Given the description of an element on the screen output the (x, y) to click on. 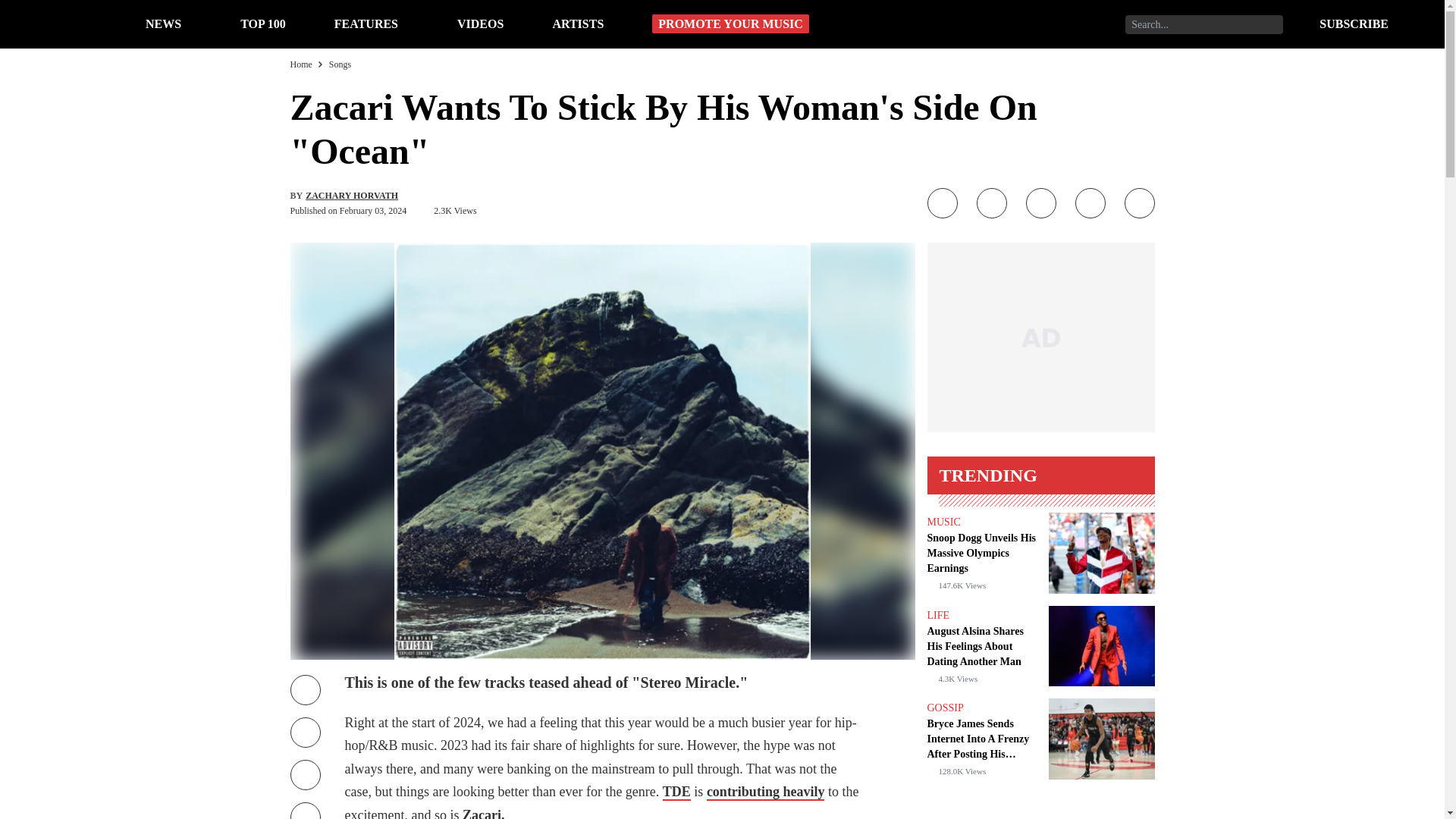
ZACHARY HORVATH (351, 195)
TDE (676, 791)
MUSIC (942, 521)
Home (300, 63)
Zacari. (484, 813)
February 03, 2024 (372, 210)
contributing heavily (765, 791)
Songs (339, 63)
